Given the description of an element on the screen output the (x, y) to click on. 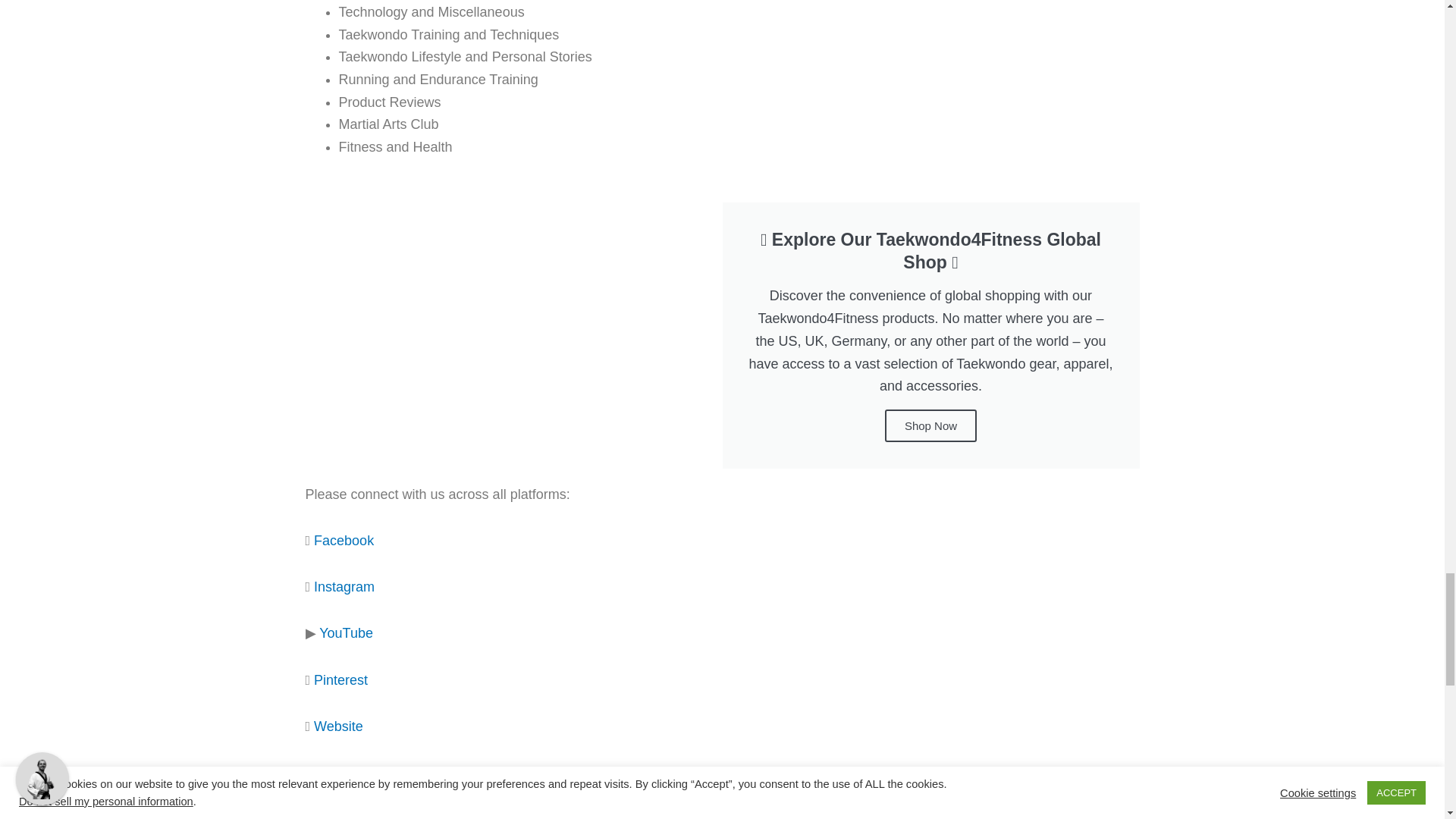
YouTube (345, 632)
Pinterest (341, 679)
Facebook (344, 540)
Instagram (344, 586)
Website (338, 726)
Shop (330, 772)
